Given the description of an element on the screen output the (x, y) to click on. 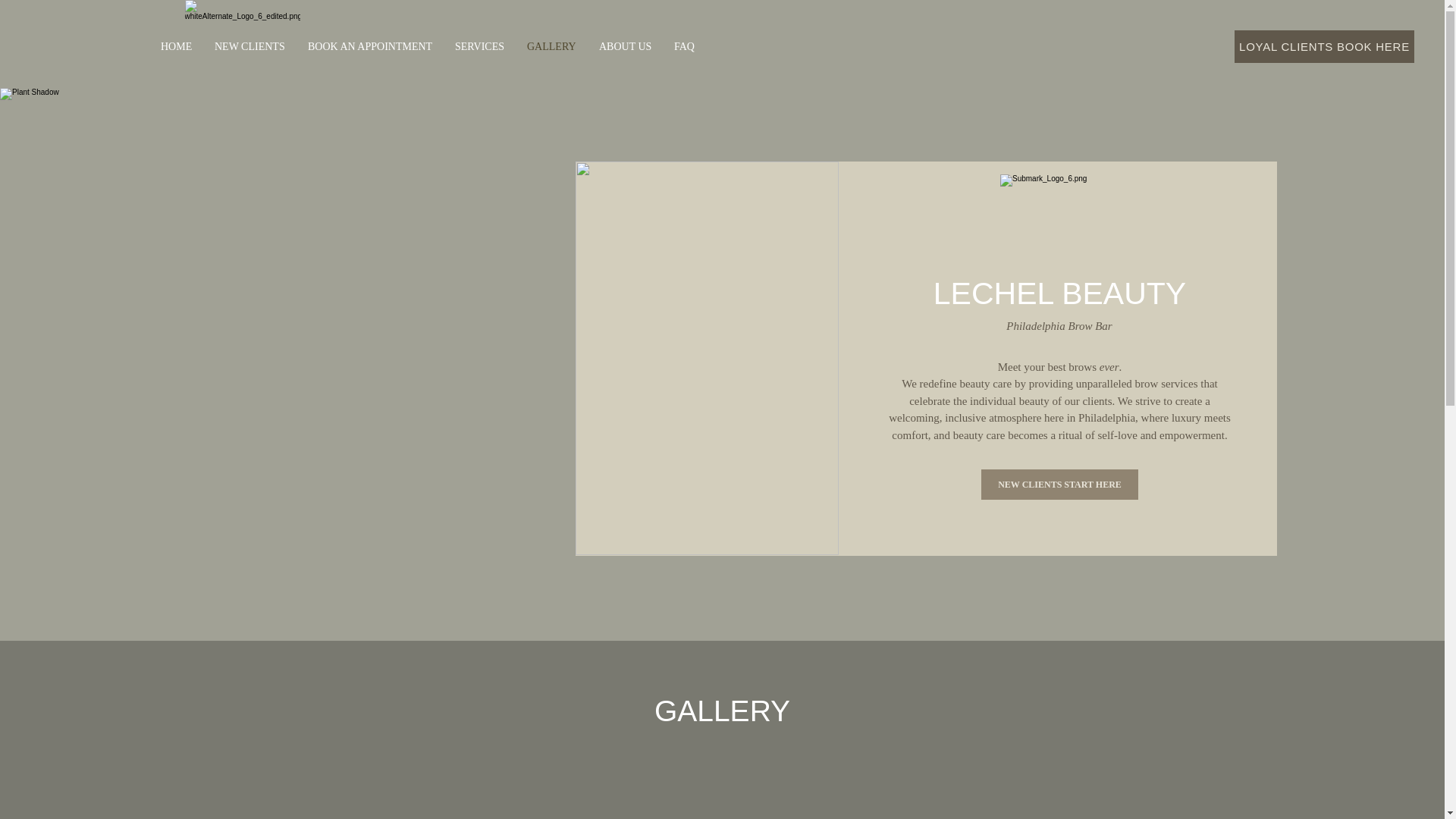
LOYAL CLIENTS BOOK HERE (1323, 46)
ABOUT US (625, 46)
NEW CLIENTS (250, 46)
FAQ (684, 46)
BOOK AN APPOINTMENT (370, 46)
GALLERY (551, 46)
NEW CLIENTS START HERE (1059, 484)
HOME (176, 46)
SERVICES (479, 46)
